Given the description of an element on the screen output the (x, y) to click on. 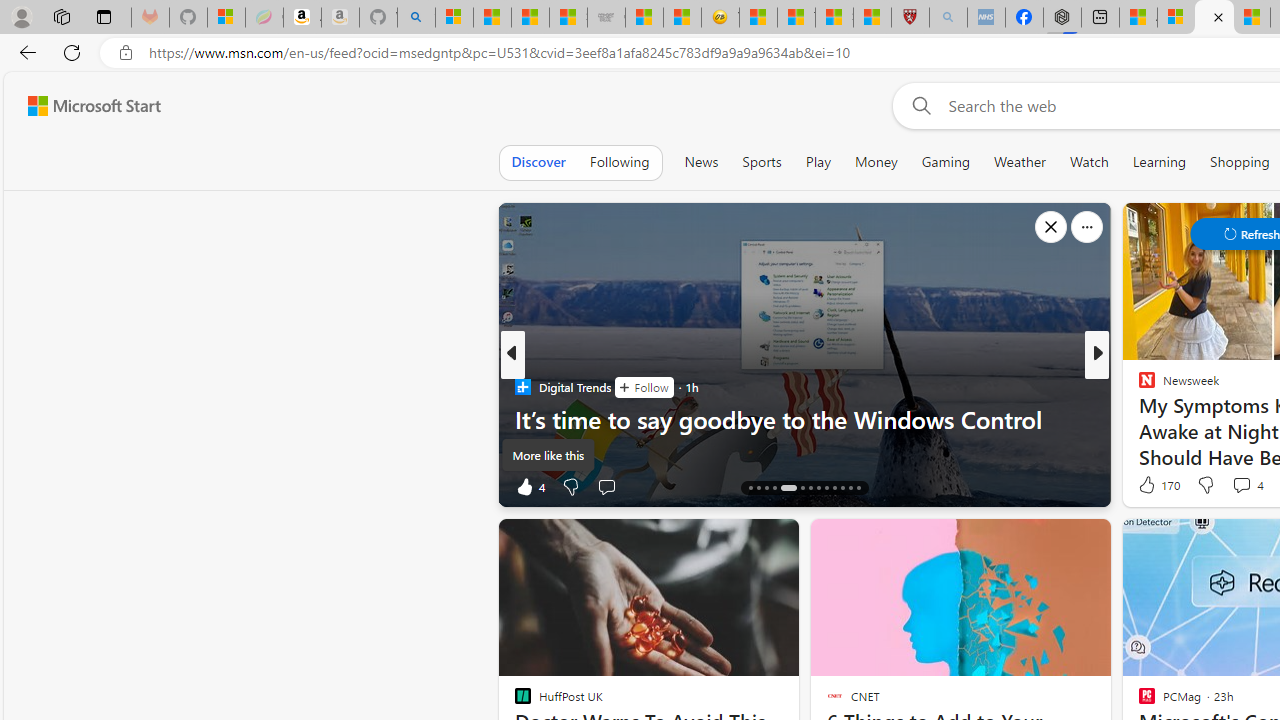
Newsweek (1138, 386)
404 Like (1151, 486)
AutomationID: tab-17 (774, 487)
3k Like (1148, 486)
Popular Mechanics (1138, 386)
View comments 11 Comment (1244, 486)
View comments 73 Comment (1244, 486)
AutomationID: tab-21 (818, 487)
View comments 18 Comment (11, 485)
